Given the description of an element on the screen output the (x, y) to click on. 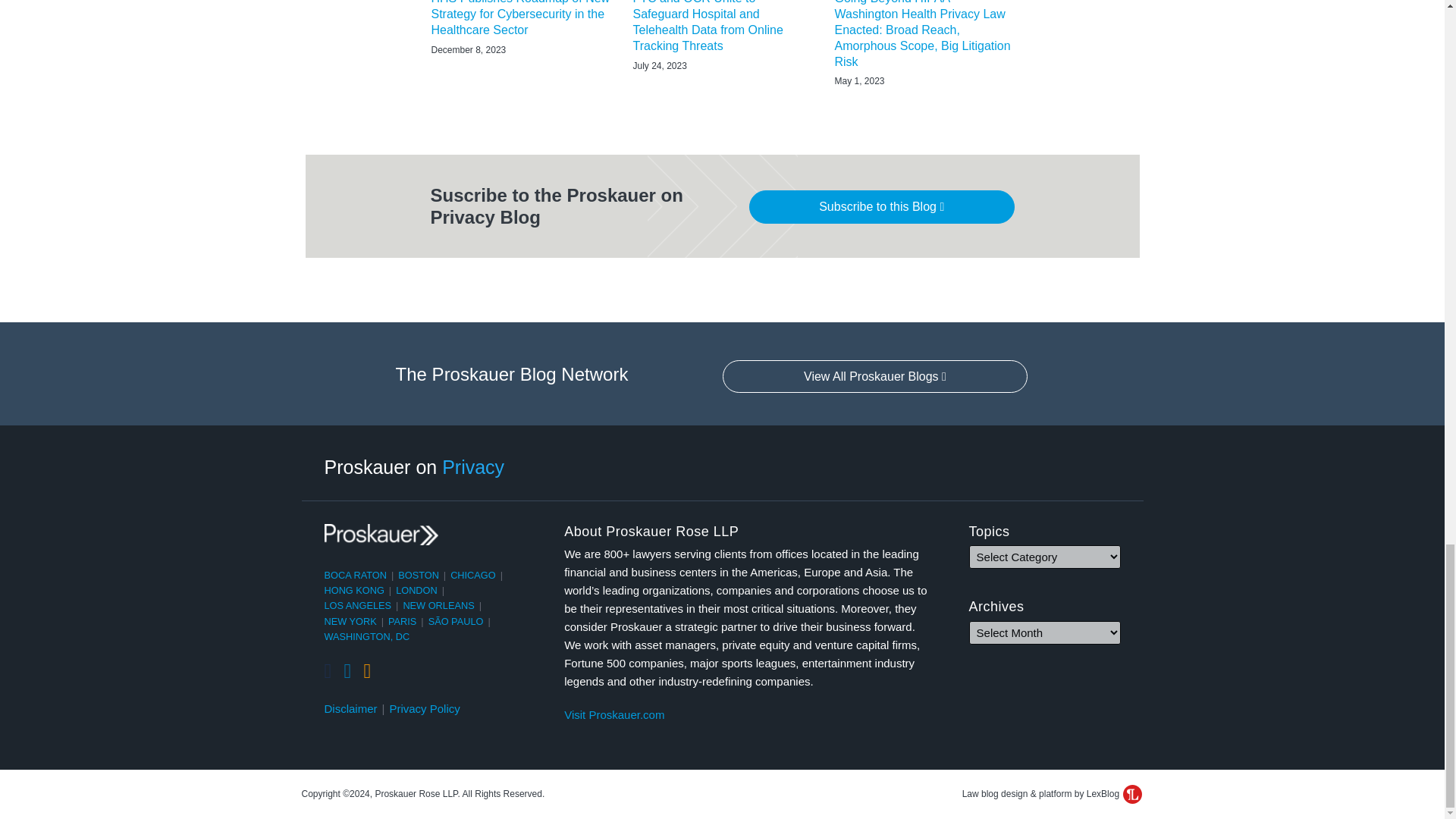
Subscribe to this Blog (881, 206)
BOCA RATON (355, 574)
LOS ANGELES (357, 604)
Proskauer on Privacy (414, 466)
LONDON (417, 590)
NEW YORK (350, 621)
View All Proskauer Blogs (874, 376)
NEW ORLEANS (438, 604)
CHICAGO (472, 574)
BOSTON (418, 574)
HONG KONG (354, 590)
LexBlog Logo (1131, 793)
